Given the description of an element on the screen output the (x, y) to click on. 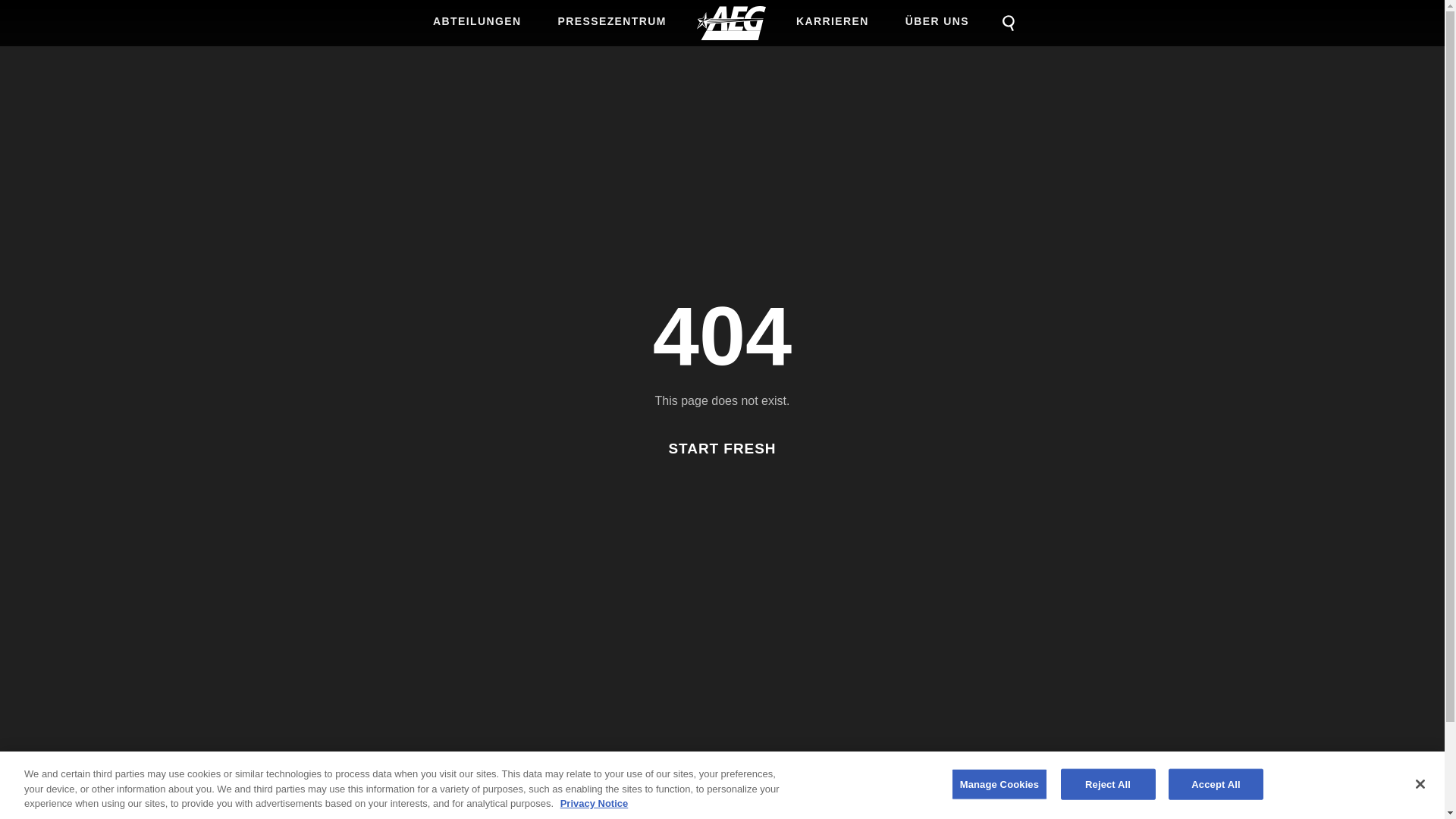
KARRIEREN (831, 21)
ABTEILUNGEN (477, 21)
PRESSEZENTRUM (611, 21)
